Given the description of an element on the screen output the (x, y) to click on. 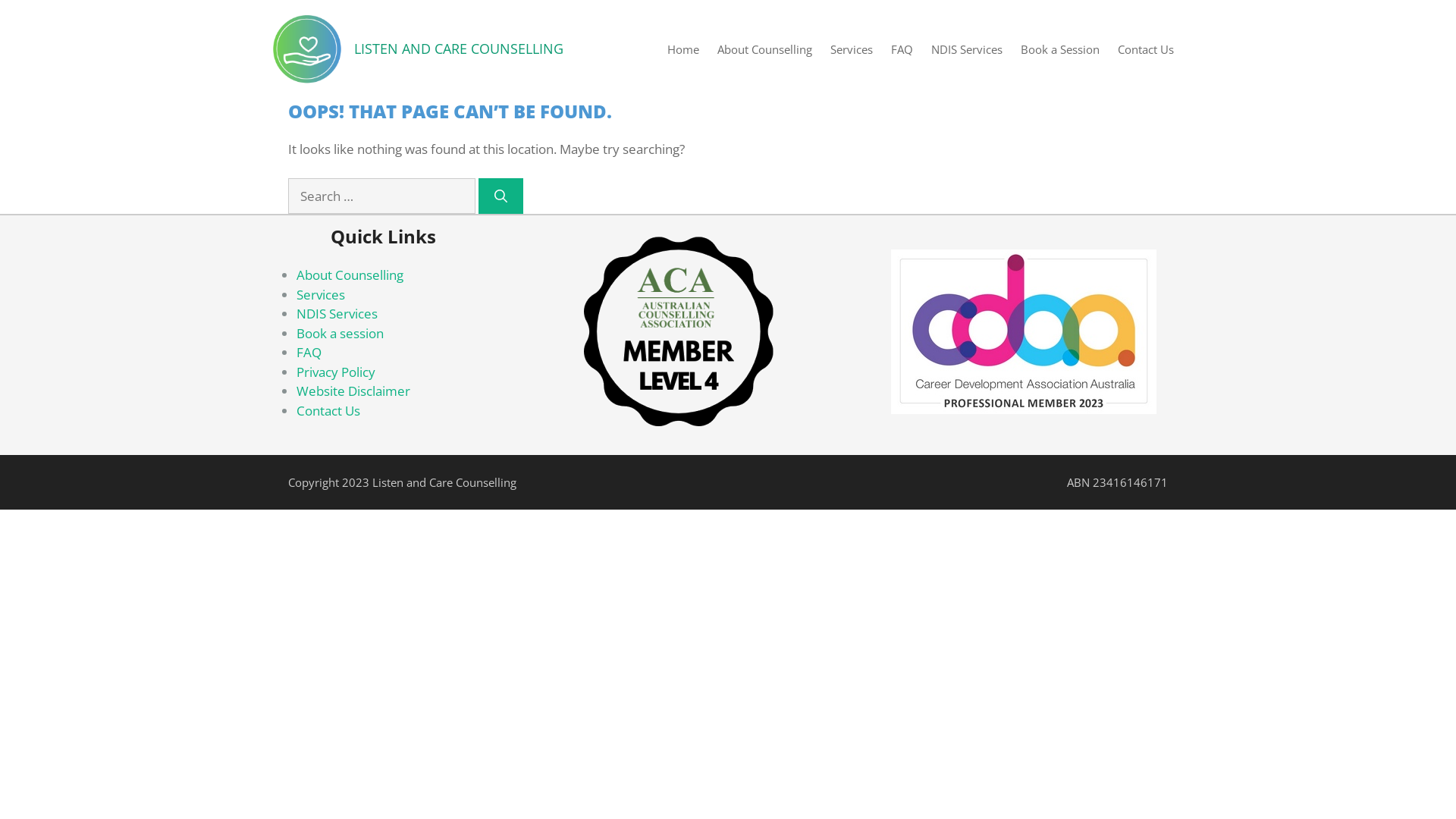
LISTEN AND CARE COUNSELLING Element type: text (458, 48)
FAQ Element type: text (901, 48)
About Counselling Element type: text (349, 274)
cdaa_professional_member_logo_2023_350p_wide Element type: hover (1023, 331)
Home Element type: text (683, 48)
Services Element type: text (851, 48)
Book a session Element type: text (339, 333)
NDIS Services Element type: text (966, 48)
Australian-Counselling-Association-ACA-Level-4-Member_t Element type: hover (678, 331)
Contact Us Element type: text (328, 410)
NDIS Services Element type: text (336, 313)
Search for: Element type: hover (381, 196)
Website Disclaimer Element type: text (353, 390)
Services Element type: text (320, 294)
FAQ Element type: text (308, 351)
Book a Session Element type: text (1059, 48)
About Counselling Element type: text (764, 48)
Contact Us Element type: text (1145, 48)
Privacy Policy Element type: text (335, 371)
